Given the description of an element on the screen output the (x, y) to click on. 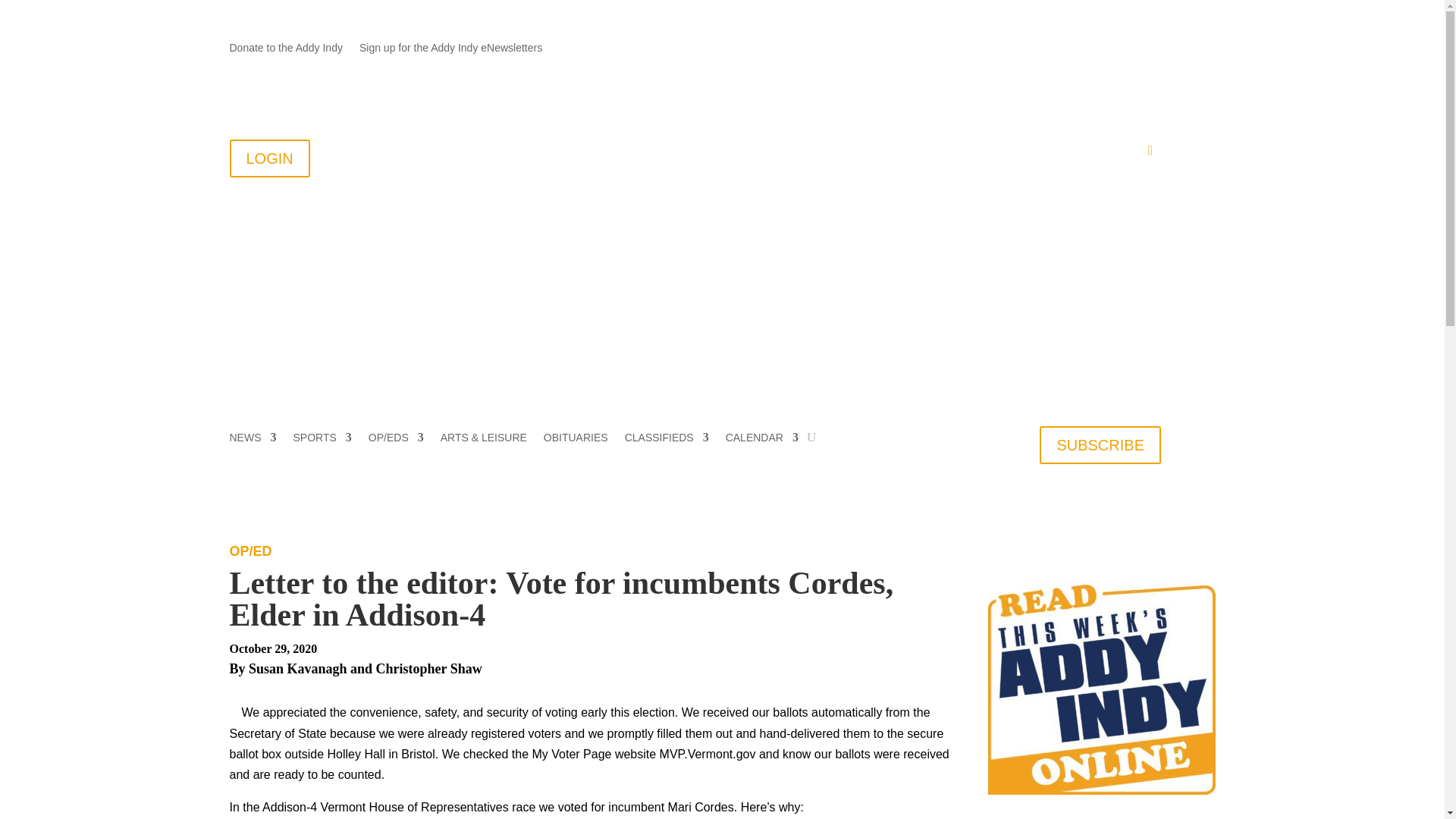
Follow on Instagram (1148, 48)
My Account (1111, 153)
Submissions (860, 153)
NEWS (252, 440)
About (590, 153)
Follow on X (1118, 48)
LOGIN (268, 158)
Donate to the Addy Indy (285, 50)
Join the Addy All-Stars! (751, 153)
Follow on Facebook (1087, 48)
addison-logo (418, 240)
PDF Editions (1029, 153)
Advertise (944, 153)
Follow on Mail (1057, 48)
Sign up for the Addy Indy eNewsletters (450, 50)
